Given the description of an element on the screen output the (x, y) to click on. 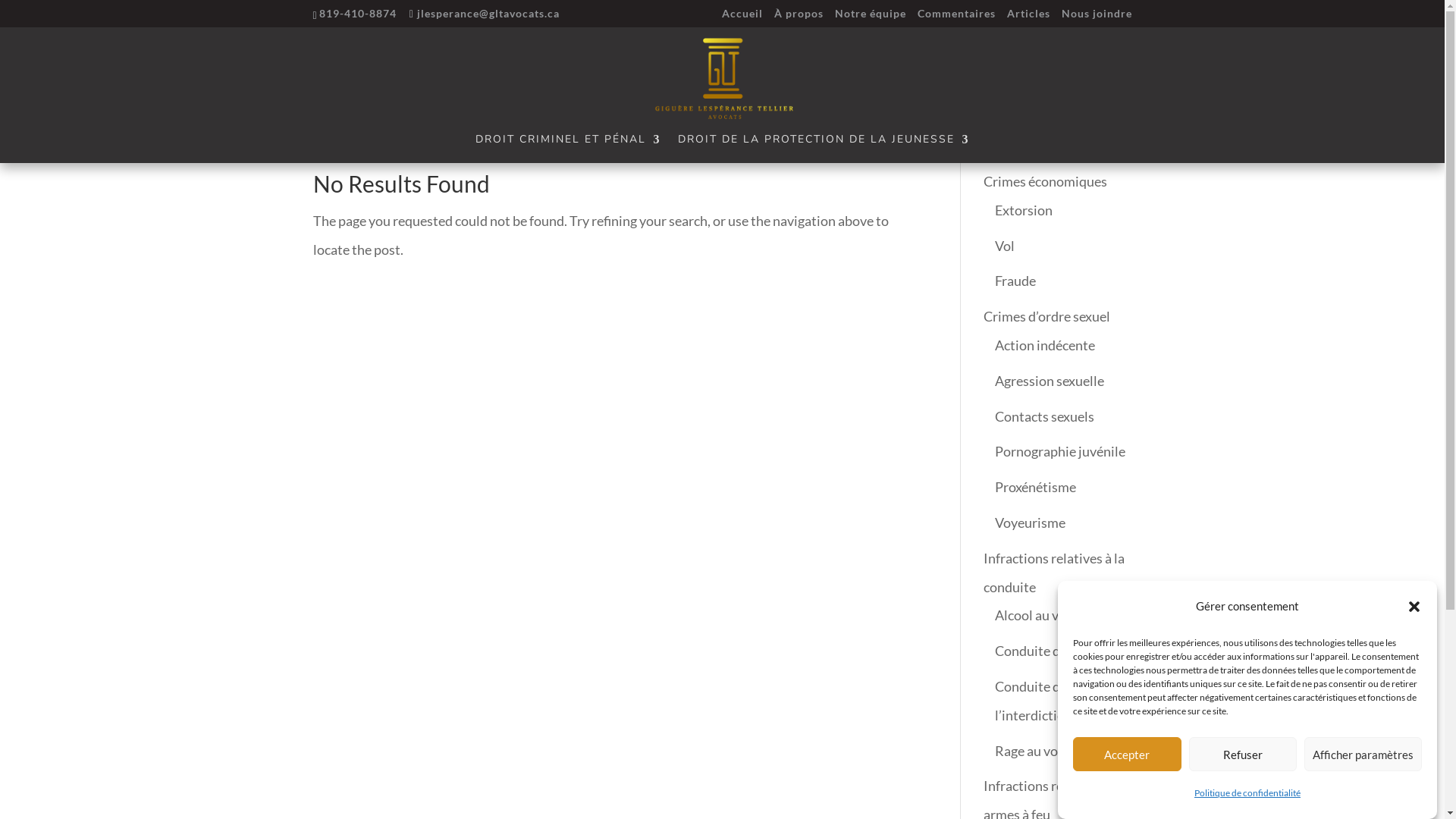
jlesperance@gltavocats.ca Element type: text (484, 12)
Nous joindre Element type: text (1096, 16)
Fraude Element type: text (1014, 280)
Accueil Element type: text (741, 16)
Accepter Element type: text (1127, 754)
Articles Element type: text (1028, 16)
Contacts sexuels Element type: text (1044, 415)
Commentaires Element type: text (956, 16)
Alcool au volant Element type: text (1041, 614)
Refuser Element type: text (1243, 754)
Extorsion Element type: text (1023, 209)
Rage au volant Element type: text (1037, 750)
DROIT DE LA PROTECTION DE LA JEUNESSE Element type: text (823, 148)
Agression sexuelle Element type: text (1049, 380)
Voyeurisme Element type: text (1029, 522)
Vol Element type: text (1004, 245)
Conduite dangereuse Element type: text (1057, 650)
